Given the description of an element on the screen output the (x, y) to click on. 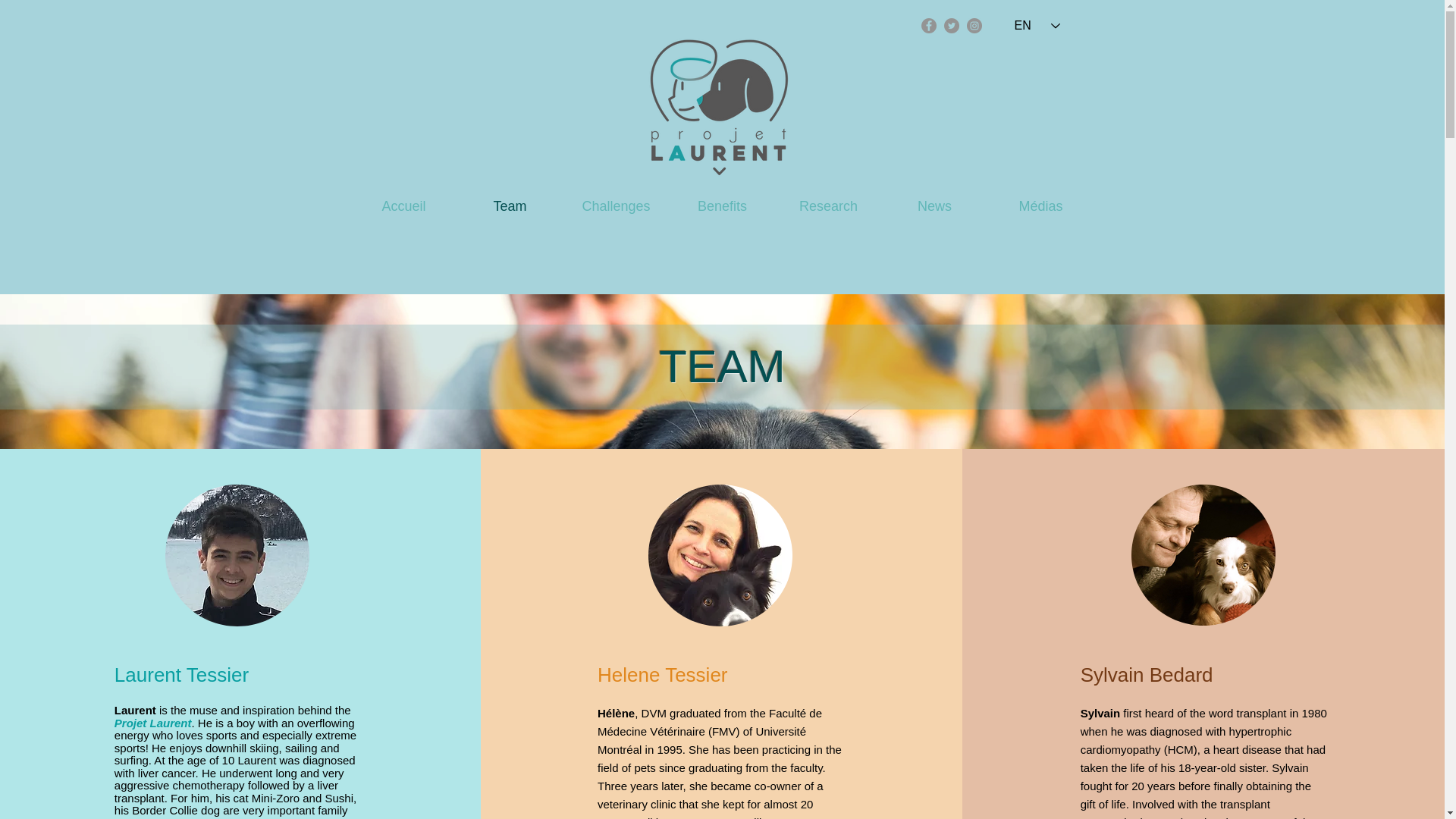
Research (827, 206)
Benefits (721, 206)
Team (509, 206)
News (933, 206)
Challenges (615, 206)
Accueil (403, 206)
